Given the description of an element on the screen output the (x, y) to click on. 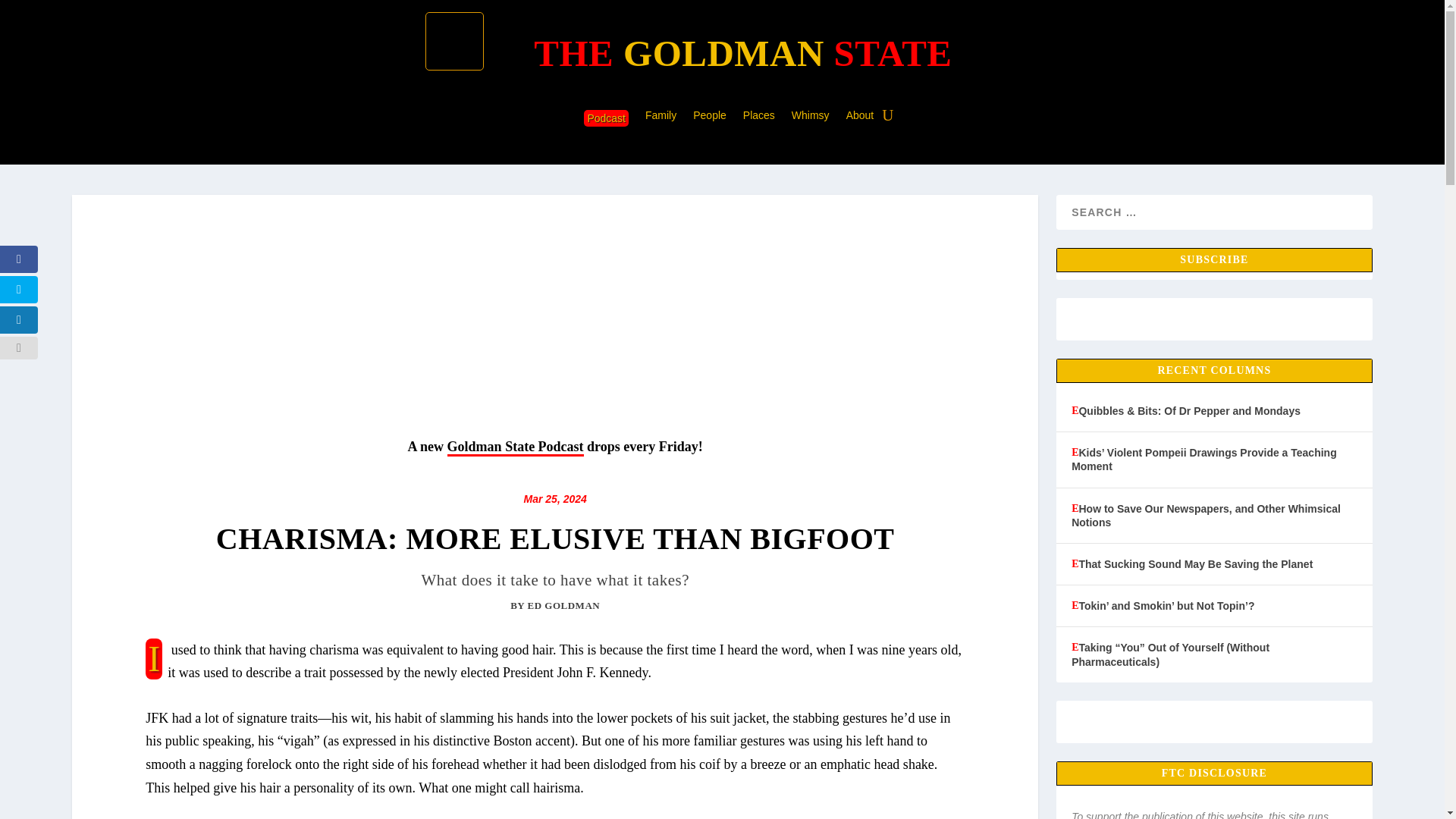
Whimsy (810, 117)
About (860, 117)
Family (661, 117)
Places (758, 117)
People (709, 117)
Goldman State Podcast (514, 447)
Podcast (605, 117)
